Given the description of an element on the screen output the (x, y) to click on. 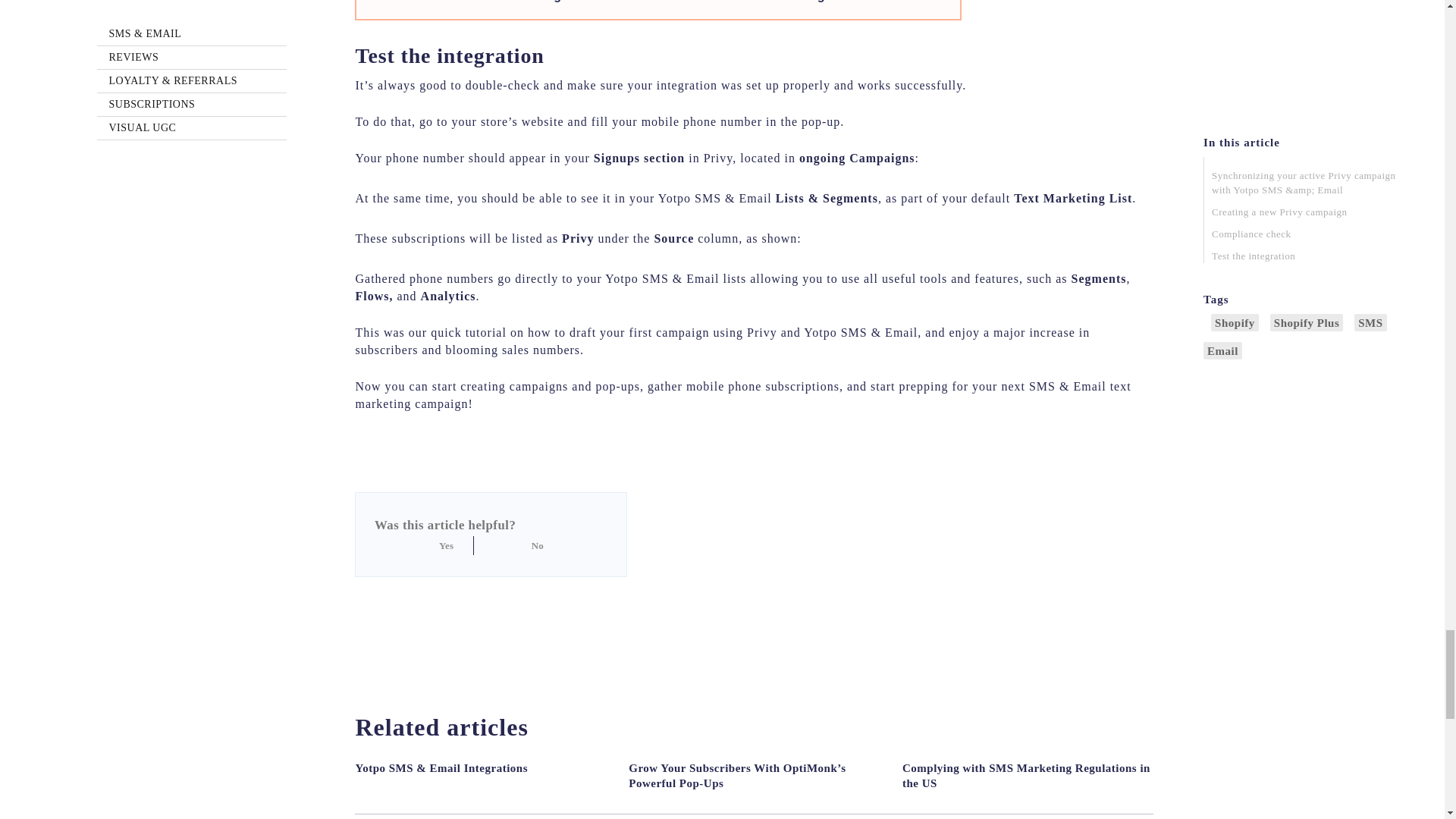
Complying with SMS Marketing Regulations in the US (1027, 775)
Yes (456, 545)
No (510, 545)
